Given the description of an element on the screen output the (x, y) to click on. 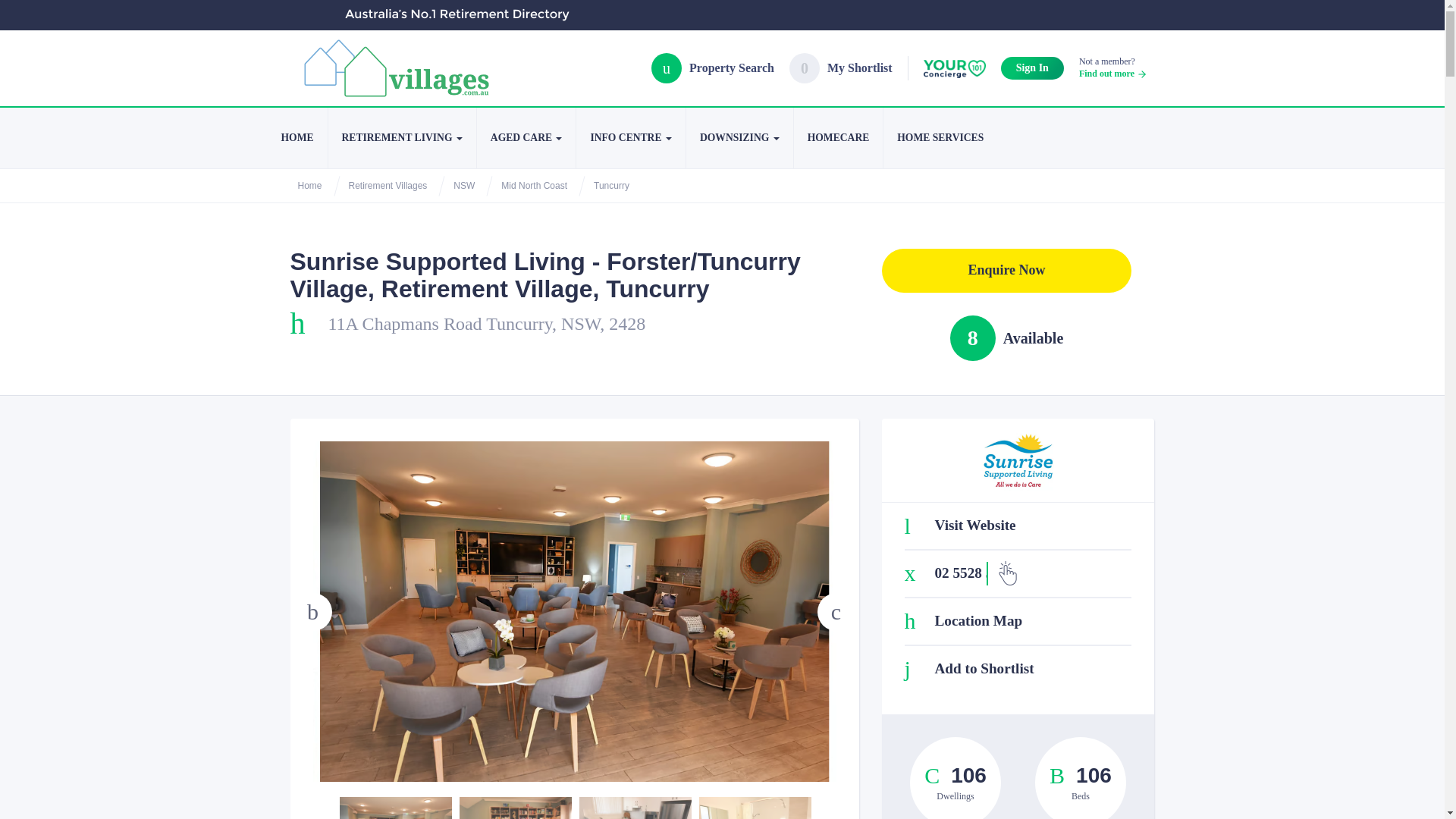
High care and low care nursing homes (739, 137)
High care and low care nursing homes (526, 137)
Sign In (1032, 67)
HOME (296, 137)
Back to the Home Page (840, 68)
AGED CARE (296, 137)
DOWNSIZING (526, 137)
RETIREMENT LIVING (739, 137)
INFO CENTRE (401, 137)
Property Search (629, 137)
